Given the description of an element on the screen output the (x, y) to click on. 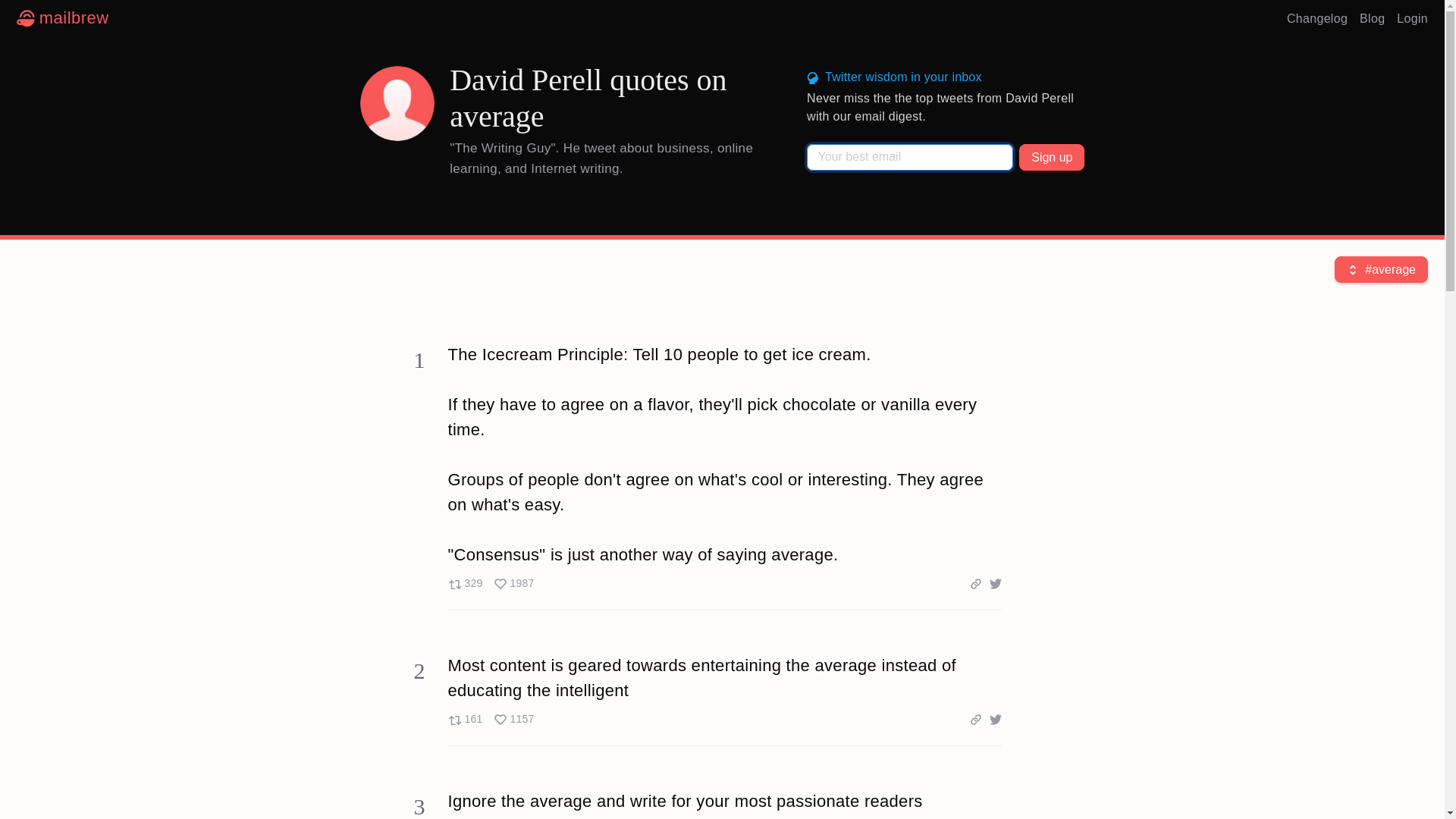
Login (1412, 18)
Blog (1371, 18)
mailbrew (62, 18)
Changelog (490, 719)
Sign up (1317, 18)
